Given the description of an element on the screen output the (x, y) to click on. 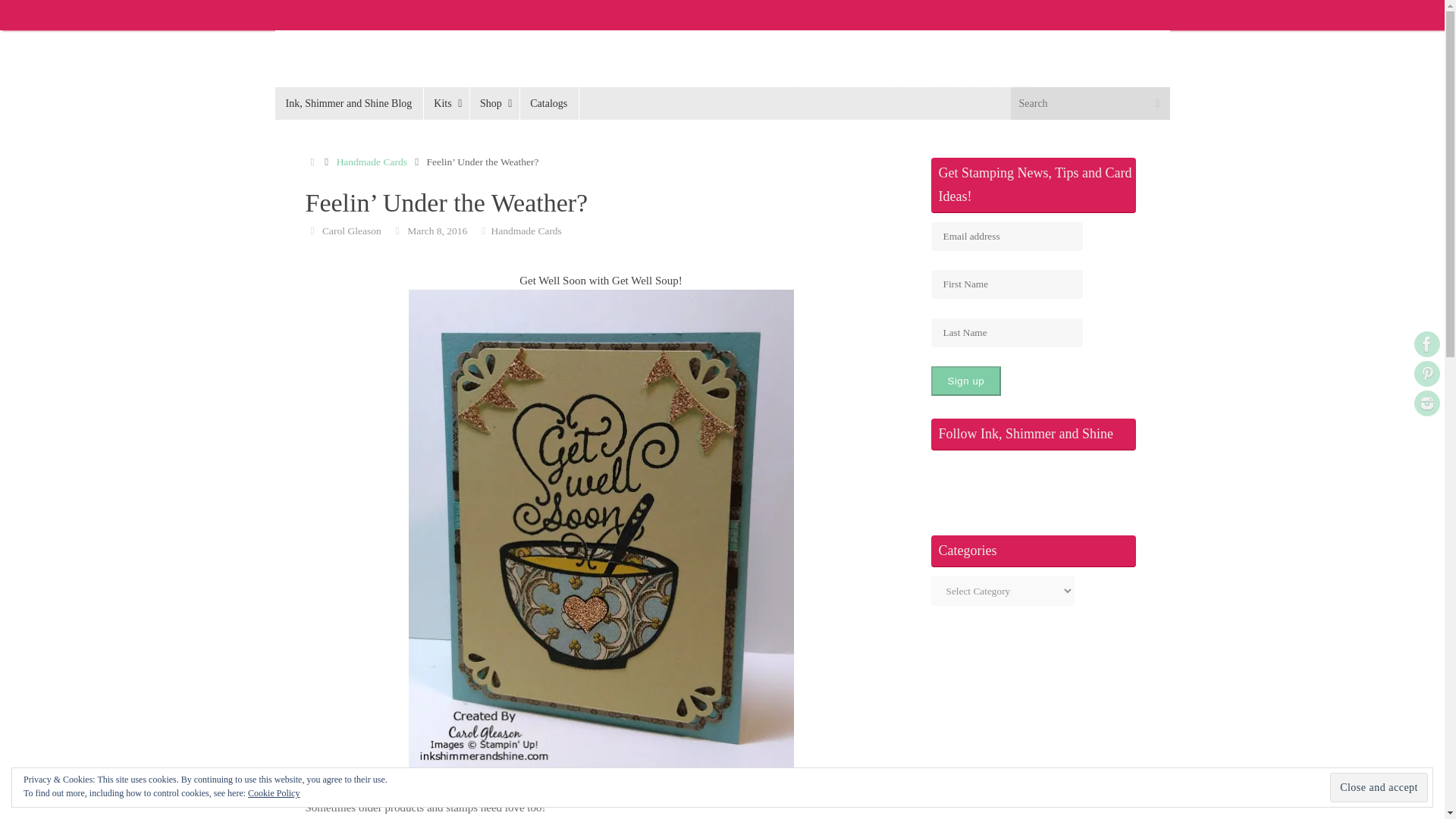
Close and accept (1379, 787)
Ink, Shimmer and Shine Blog (349, 102)
Categories (483, 229)
Date (397, 229)
View all posts by Carol Gleason (351, 229)
Facebook (1426, 344)
Home (311, 161)
Carol Gleason (351, 229)
Kits (445, 102)
Author  (311, 229)
